Given the description of an element on the screen output the (x, y) to click on. 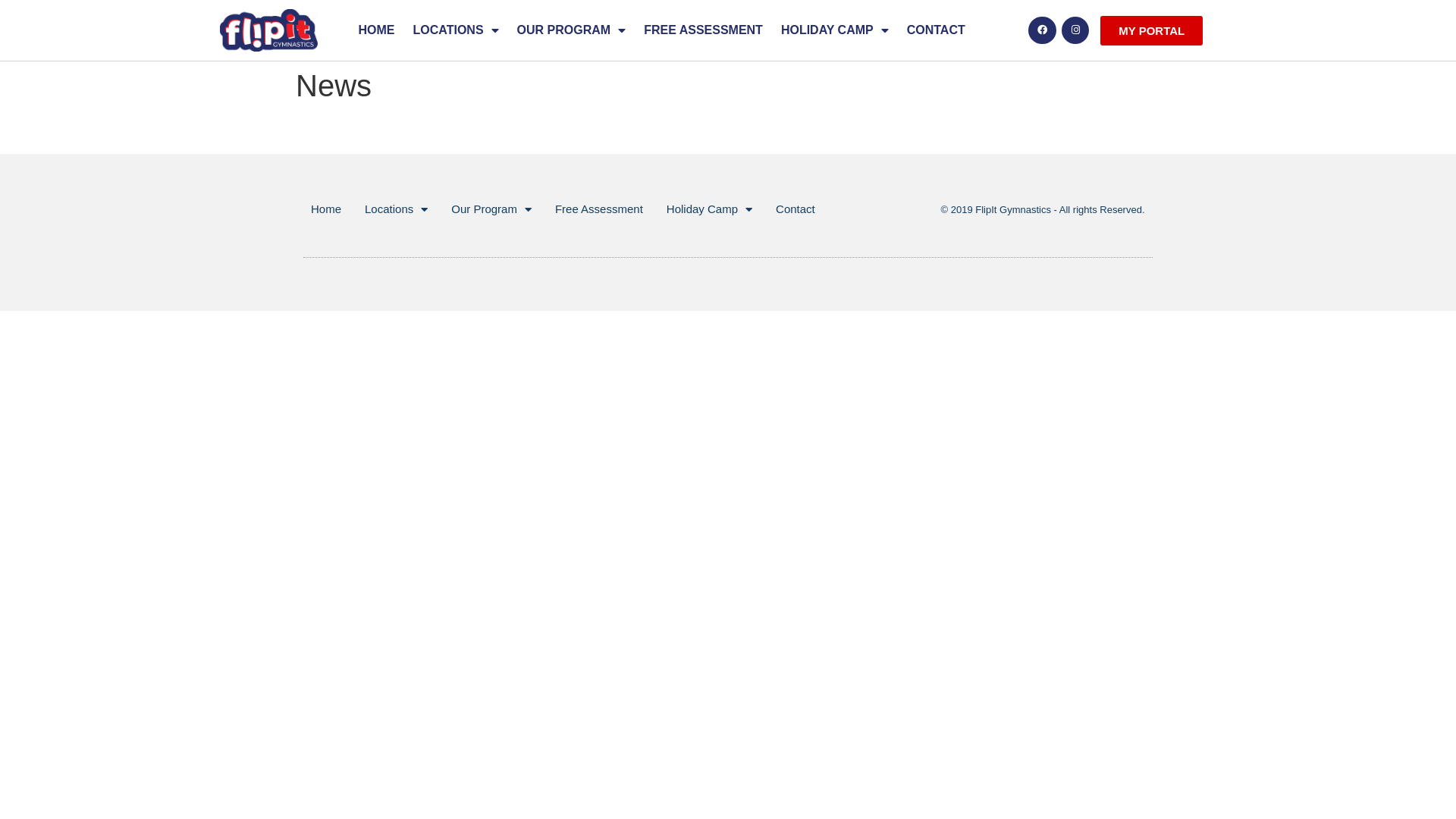
LOCATIONS Element type: text (455, 30)
Contact Element type: text (795, 208)
Free Assessment Element type: text (599, 208)
MY PORTAL Element type: text (1151, 29)
HOME Element type: text (376, 30)
OUR PROGRAM Element type: text (571, 30)
Our Program Element type: text (491, 208)
Flipit logo Element type: hover (268, 30)
FREE ASSESSMENT Element type: text (703, 30)
Holiday Camp Element type: text (709, 208)
Locations Element type: text (395, 208)
Home Element type: text (325, 208)
CONTACT Element type: text (936, 30)
HOLIDAY CAMP Element type: text (834, 30)
